Given the description of an element on the screen output the (x, y) to click on. 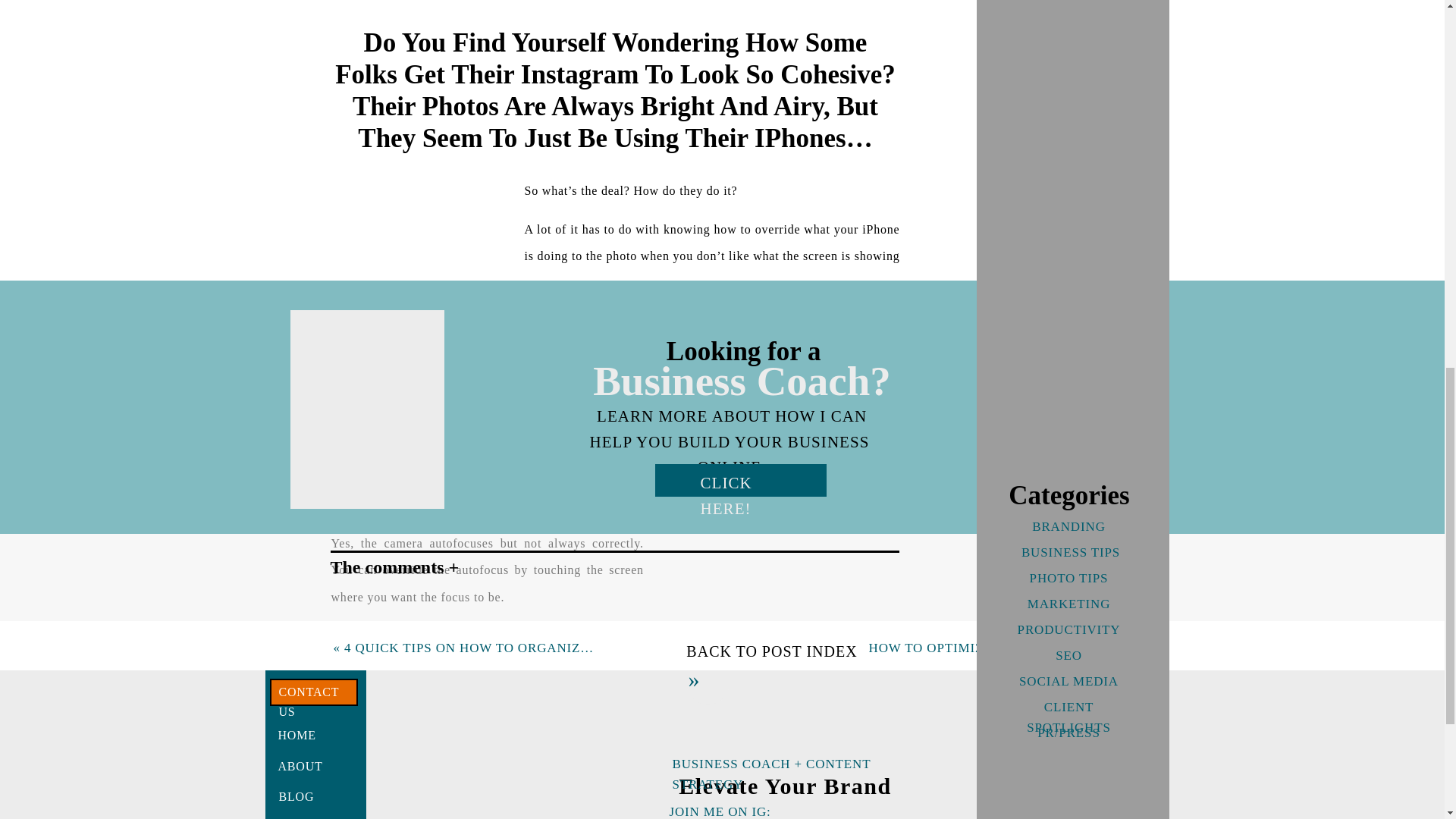
HOME (291, 731)
BRANDING (1068, 529)
SEO (1068, 657)
MARKETING (1068, 606)
HOW TO OPTIMIZE YOUR WEBSITE IMAGES FOR SEO (1043, 647)
 BUSINESS TIPS (1068, 555)
CLICK HERE! (741, 480)
4 QUICK TIPS ON HOW TO ORGANIZE YOUR BUSINESS PHOTOS (550, 647)
ABOUT (292, 762)
Categories (1069, 501)
